Given the description of an element on the screen output the (x, y) to click on. 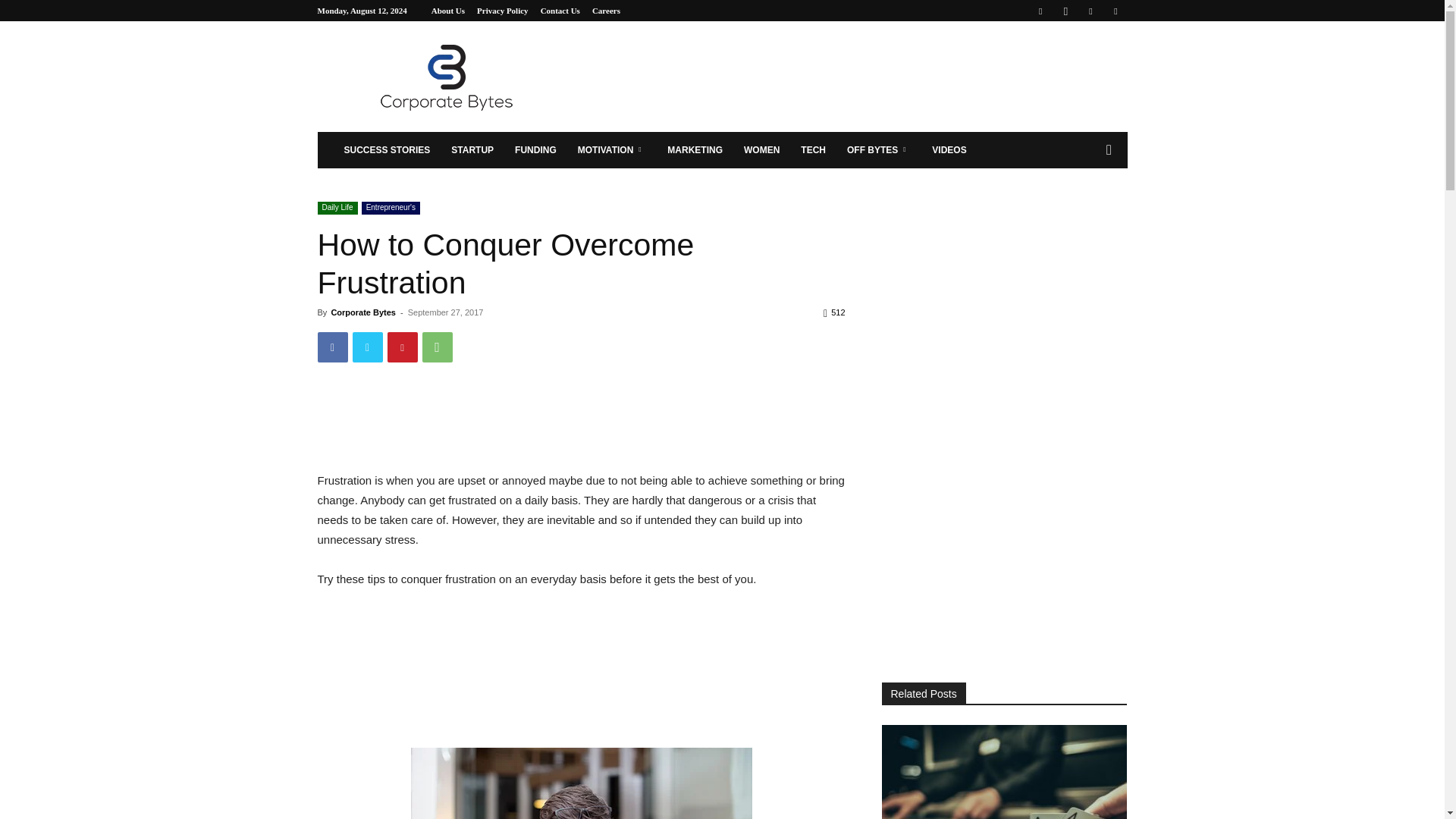
SUCCESS STORIES (387, 149)
Privacy Policy (502, 10)
Facebook (1040, 10)
WhatsApp (436, 347)
STARTUP (472, 149)
WOMEN (761, 149)
Advertisement (850, 76)
Advertisement (593, 424)
Twitter (366, 347)
Contact Us (559, 10)
